Given the description of an element on the screen output the (x, y) to click on. 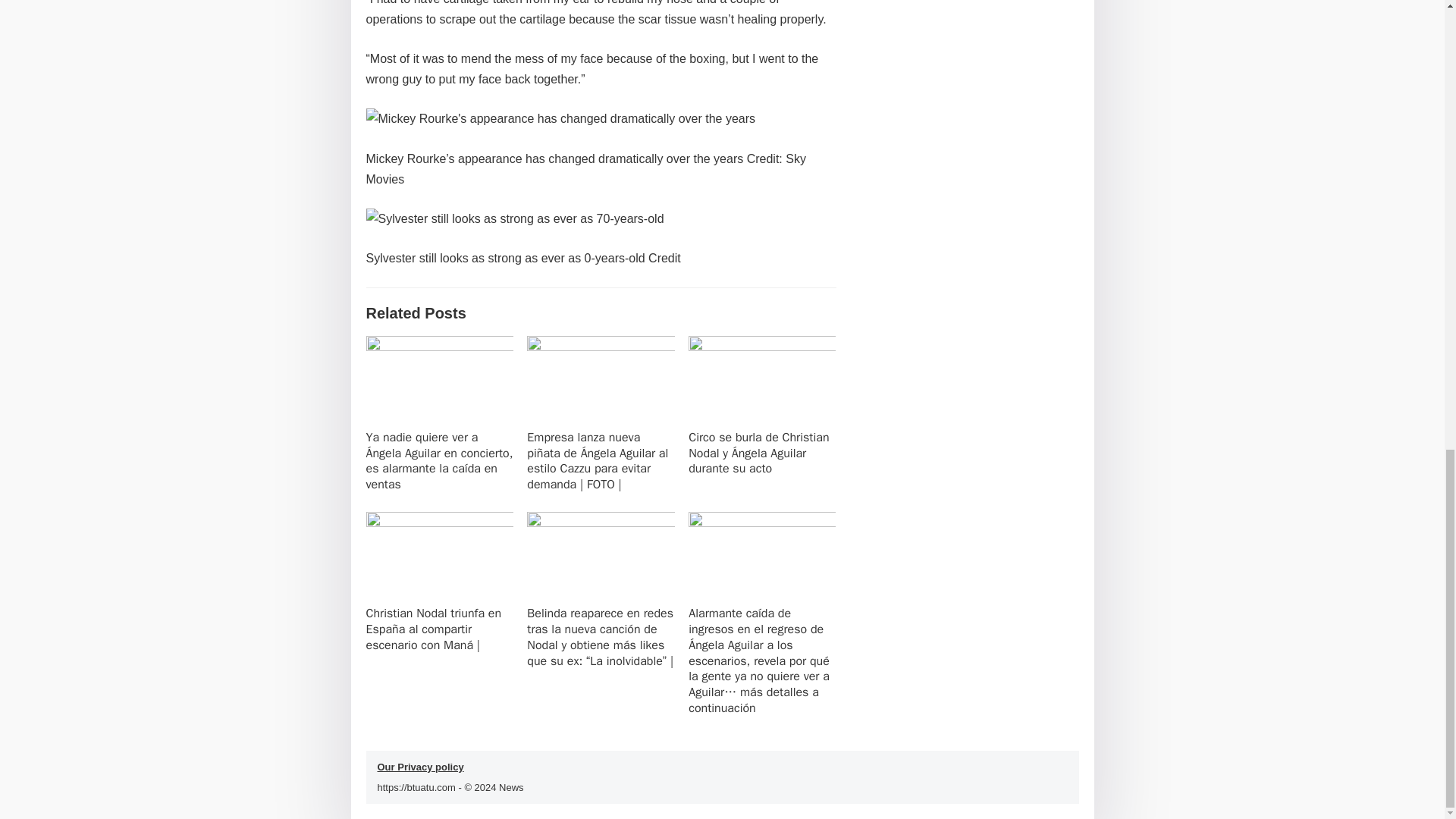
Our Privacy policy (420, 767)
